Given the description of an element on the screen output the (x, y) to click on. 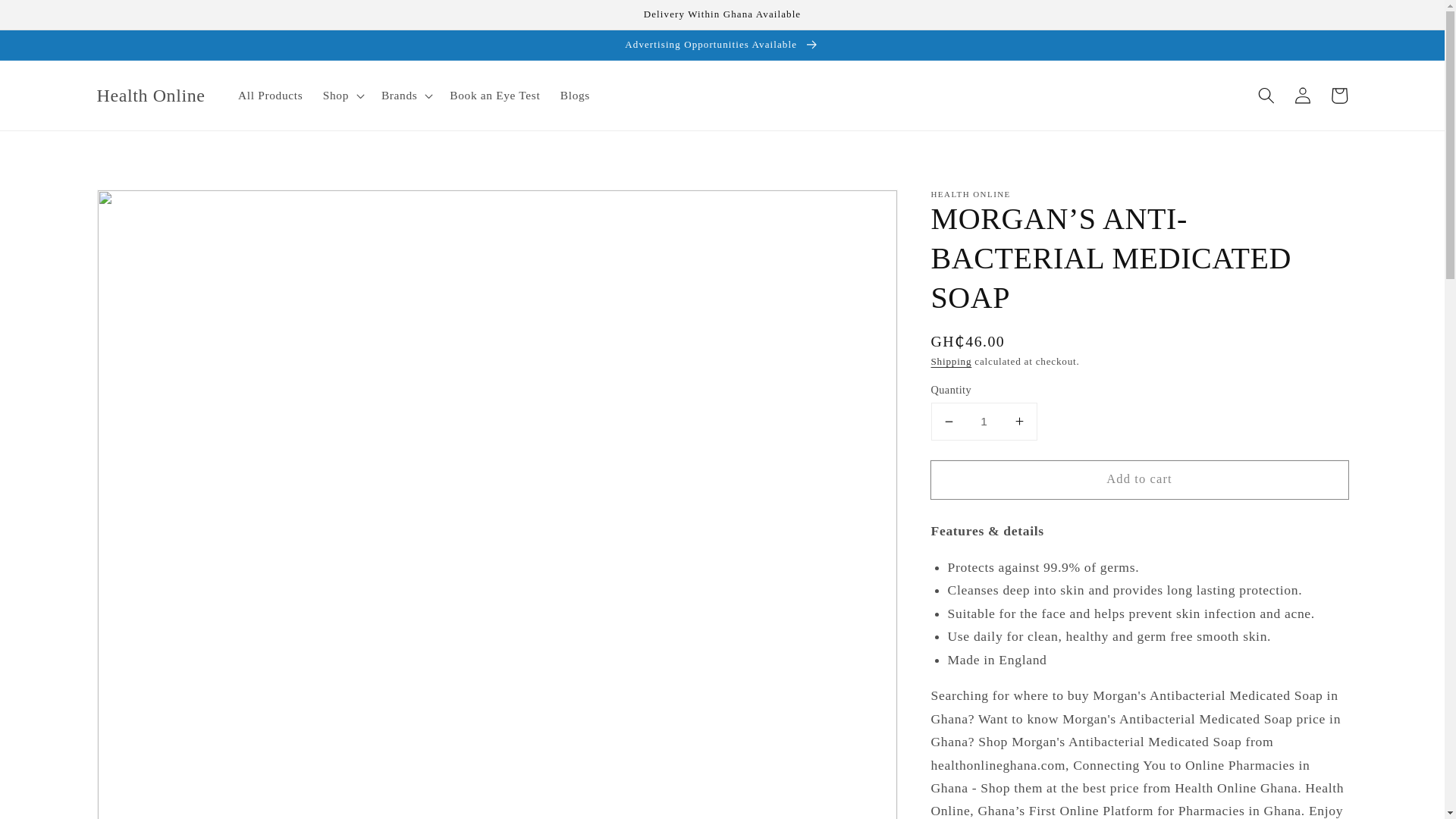
1 (984, 421)
Skip to content (49, 18)
